Given the description of an element on the screen output the (x, y) to click on. 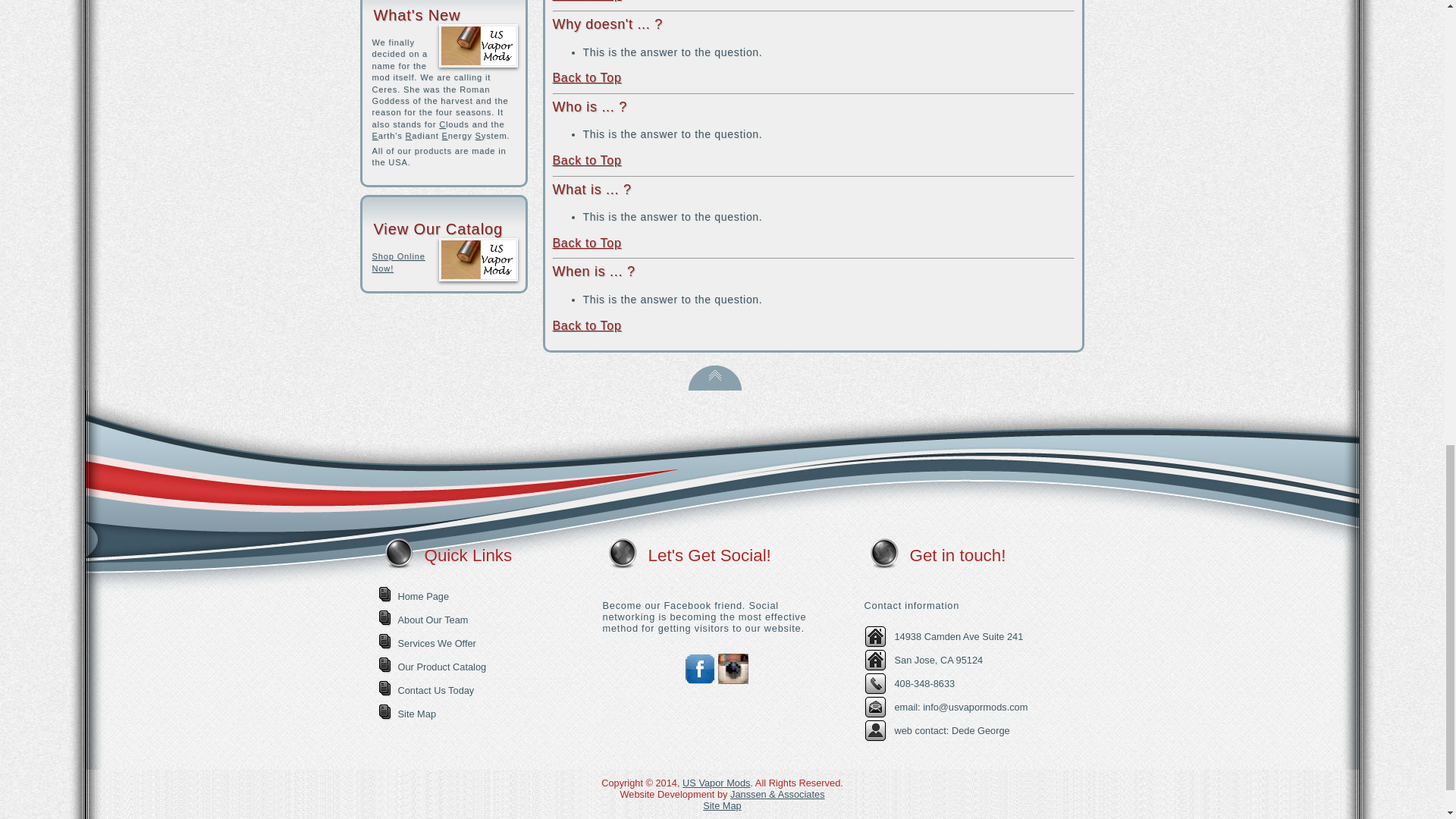
Become Our Facebook Friend (699, 680)
Back to Top (714, 386)
Check out Instagram (732, 680)
